Given the description of an element on the screen output the (x, y) to click on. 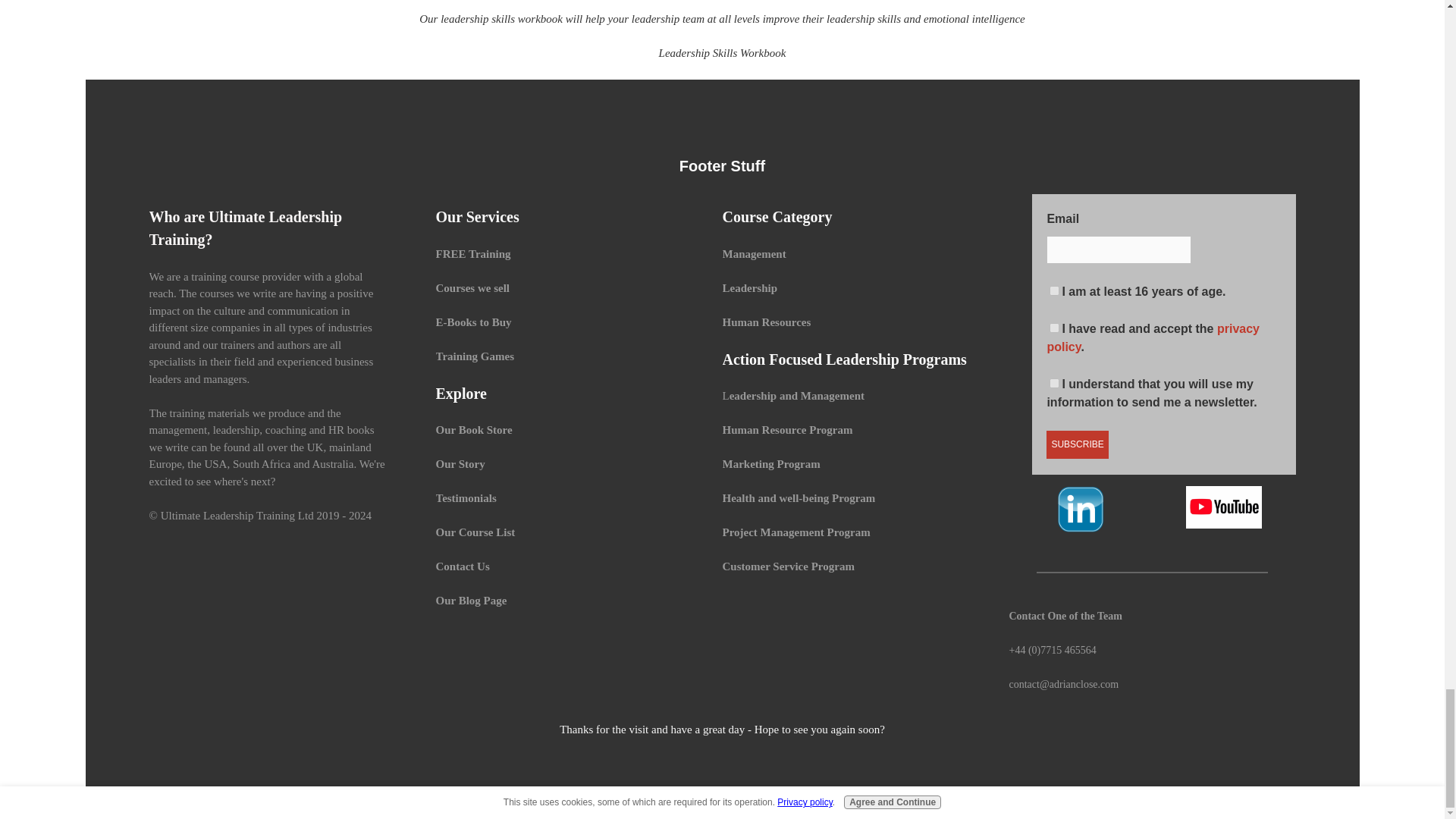
eadership and Management  (798, 395)
Our Book Store  (475, 429)
Our Blog Page (470, 600)
Project Management Program (795, 531)
Health and well-being Program (798, 497)
SUBSCRIBE (1077, 444)
Customer Service Program (787, 566)
FREE Training (473, 254)
on (1054, 290)
Training Games (474, 356)
on (1054, 383)
E-Books to Buy (473, 322)
on (1054, 327)
Human Resource Program (786, 429)
Our Course List (475, 532)
